Given the description of an element on the screen output the (x, y) to click on. 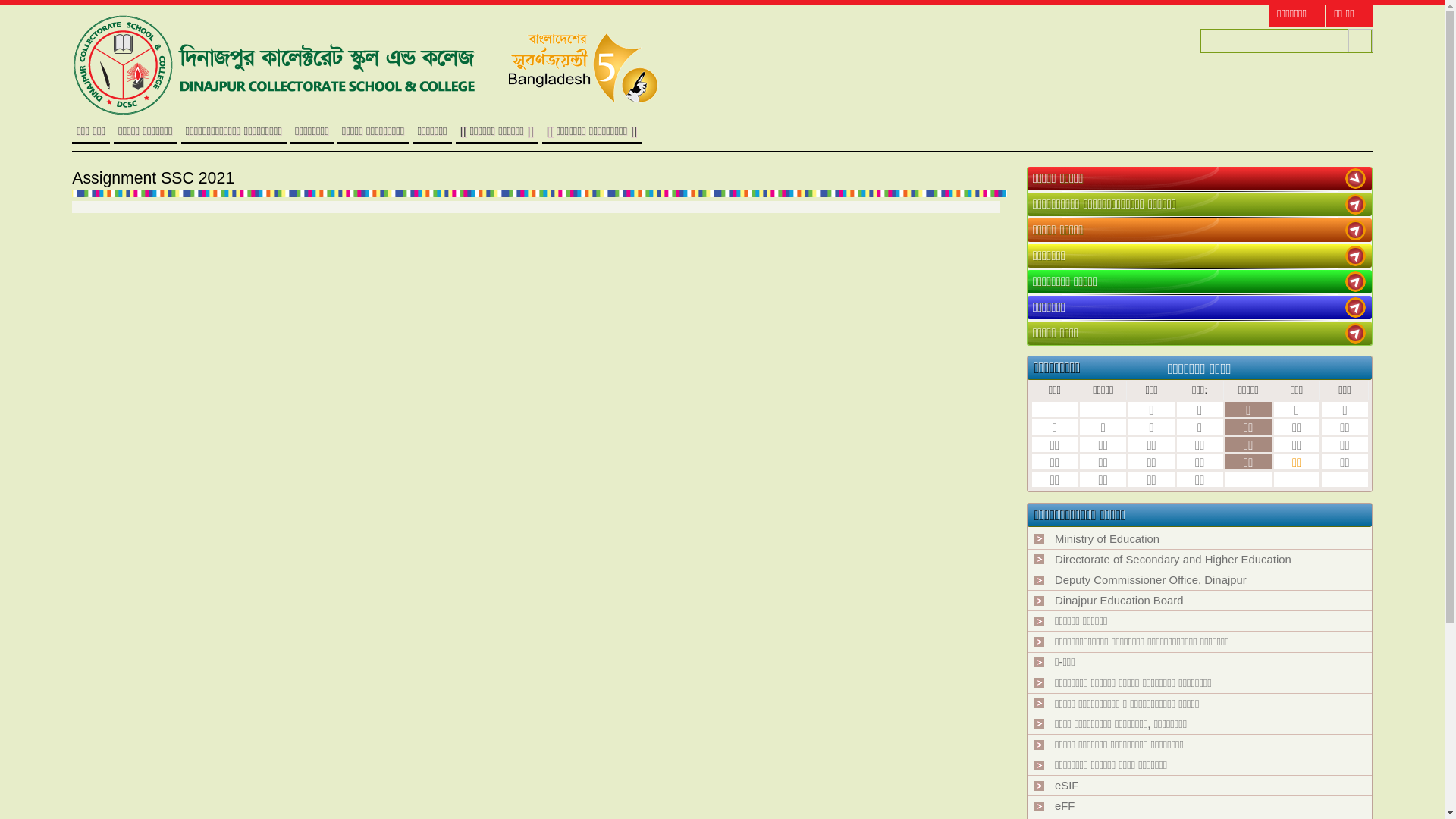
Ministry of Education Element type: text (1106, 539)
Dinajpur Education Board Element type: text (1118, 600)
  Element type: text (1355, 333)
  Element type: text (1355, 204)
  Element type: text (1355, 178)
Directorate of Secondary and Higher Education Element type: text (1172, 559)
  Element type: text (1355, 229)
  Element type: text (1355, 307)
Deputy Commissioner Office, Dinajpur Element type: text (1150, 580)
Submit Element type: text (1360, 40)
  Element type: text (1355, 255)
eSIF Element type: text (1066, 785)
eFF Element type: text (1064, 806)
  Element type: text (1355, 281)
